Given the description of an element on the screen output the (x, y) to click on. 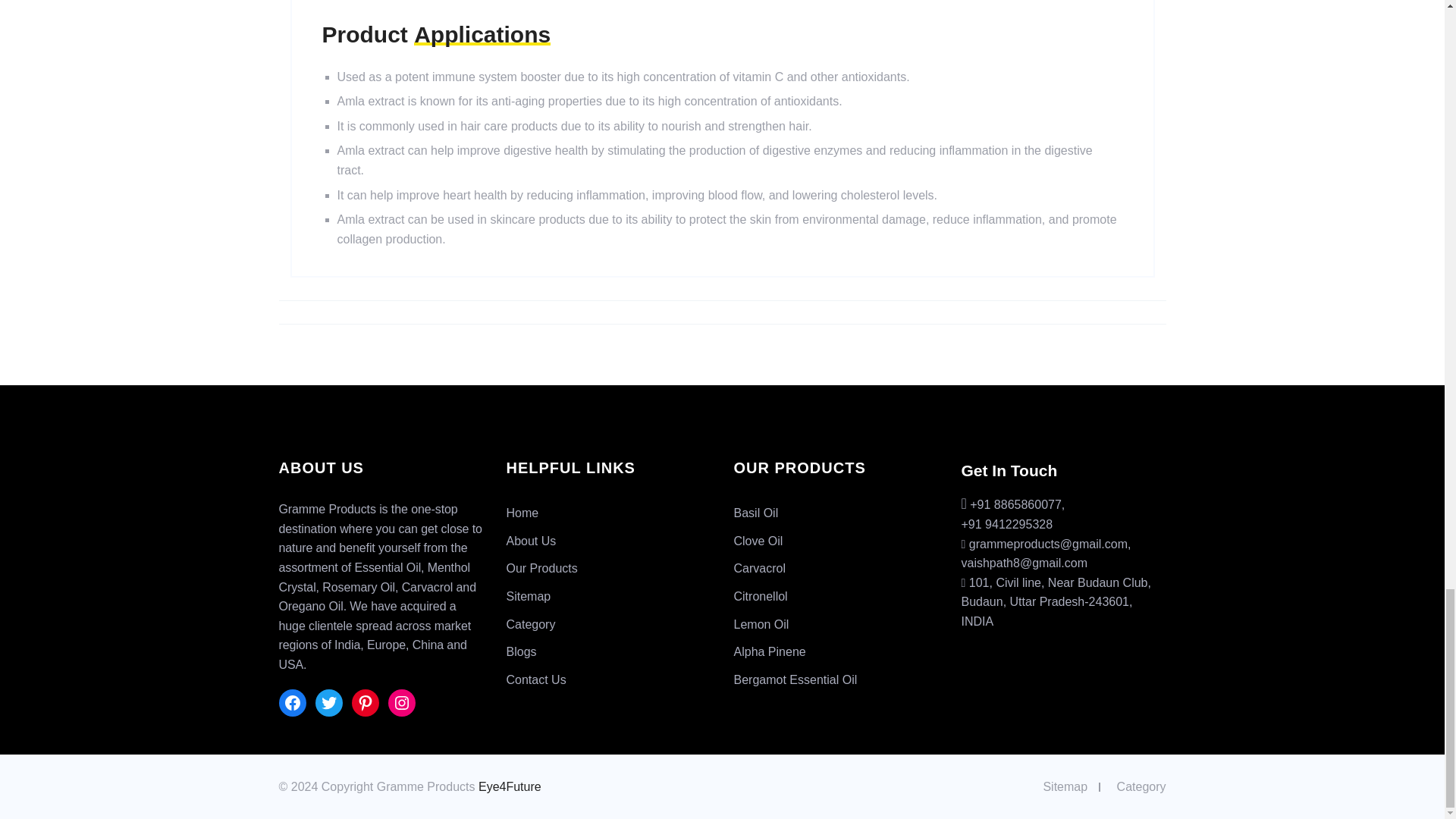
Alpha Pinene (769, 651)
Bergamot Essential Oil (795, 679)
Pinterest (365, 702)
Our Products (542, 567)
Facebook (292, 702)
Home (522, 512)
Twitter (328, 702)
Lemon Oil (761, 624)
Carvacrol (759, 567)
Contact Us (536, 679)
